Given the description of an element on the screen output the (x, y) to click on. 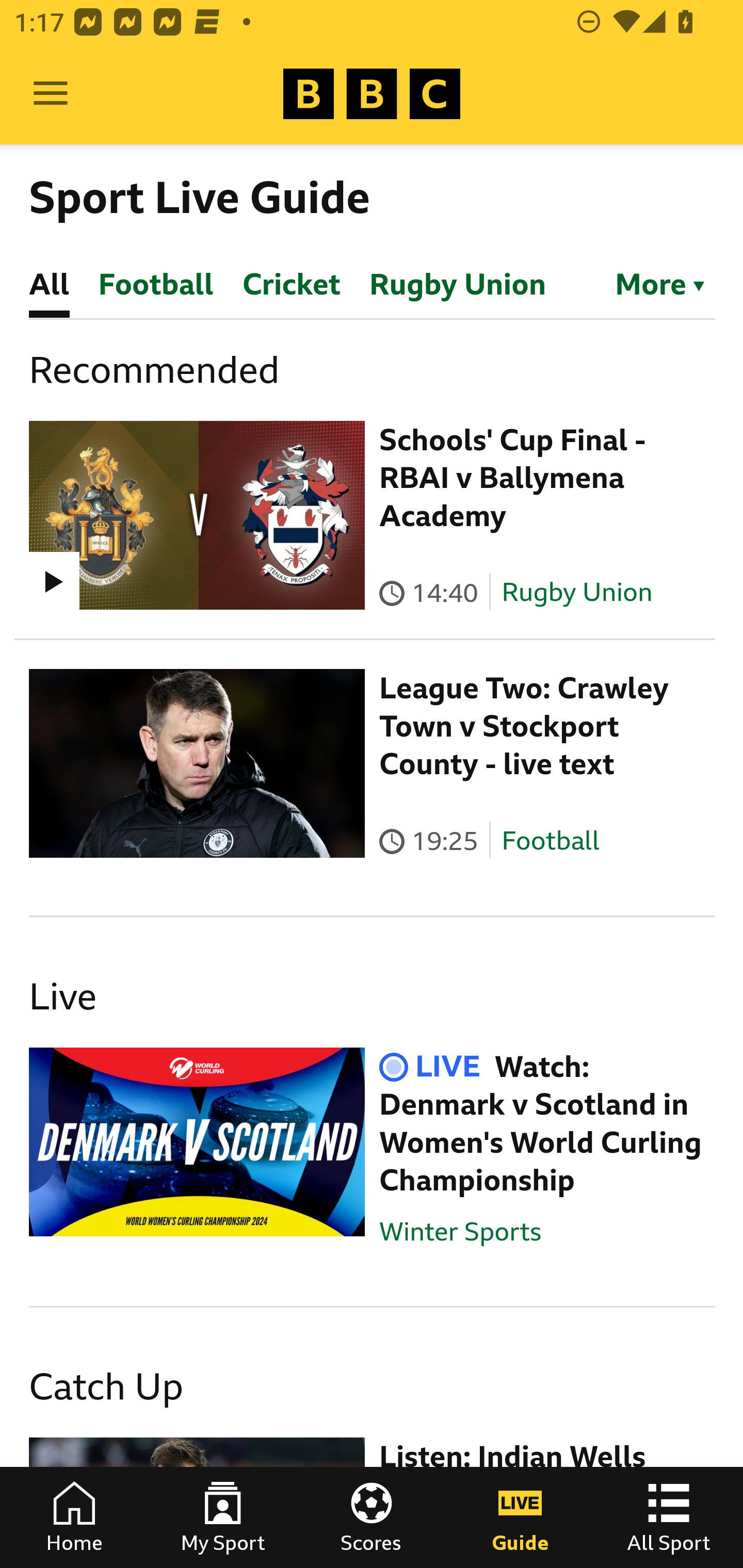
Open Menu (50, 93)
Schools' Cup Final - RBAI v Ballymena Academy (512, 477)
Rugby Union (576, 591)
Football (550, 840)
Winter Sports (459, 1230)
Home (74, 1517)
My Sport (222, 1517)
Scores (371, 1517)
All Sport (668, 1517)
